Given the description of an element on the screen output the (x, y) to click on. 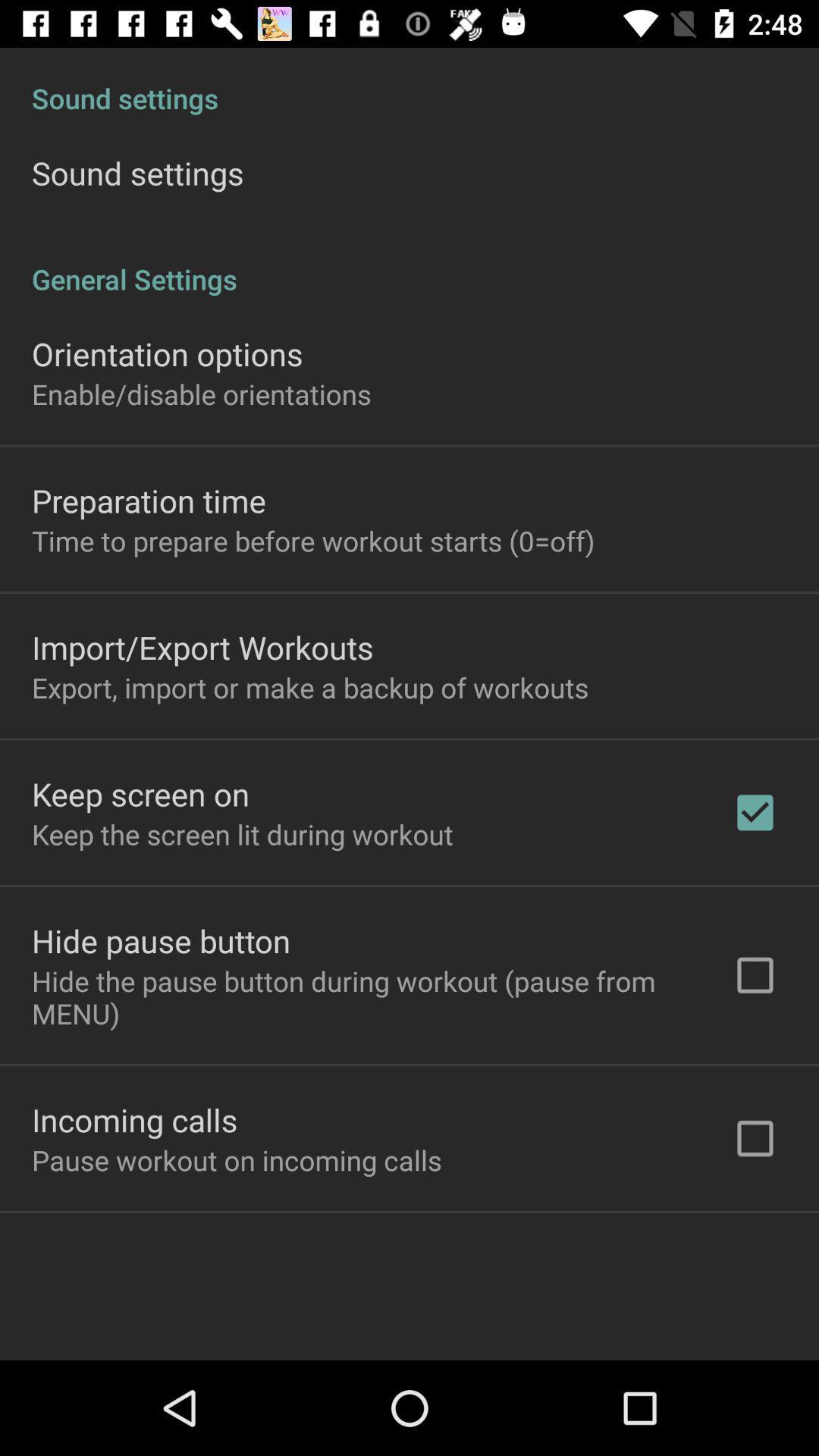
launch icon below orientation options item (201, 393)
